Given the description of an element on the screen output the (x, y) to click on. 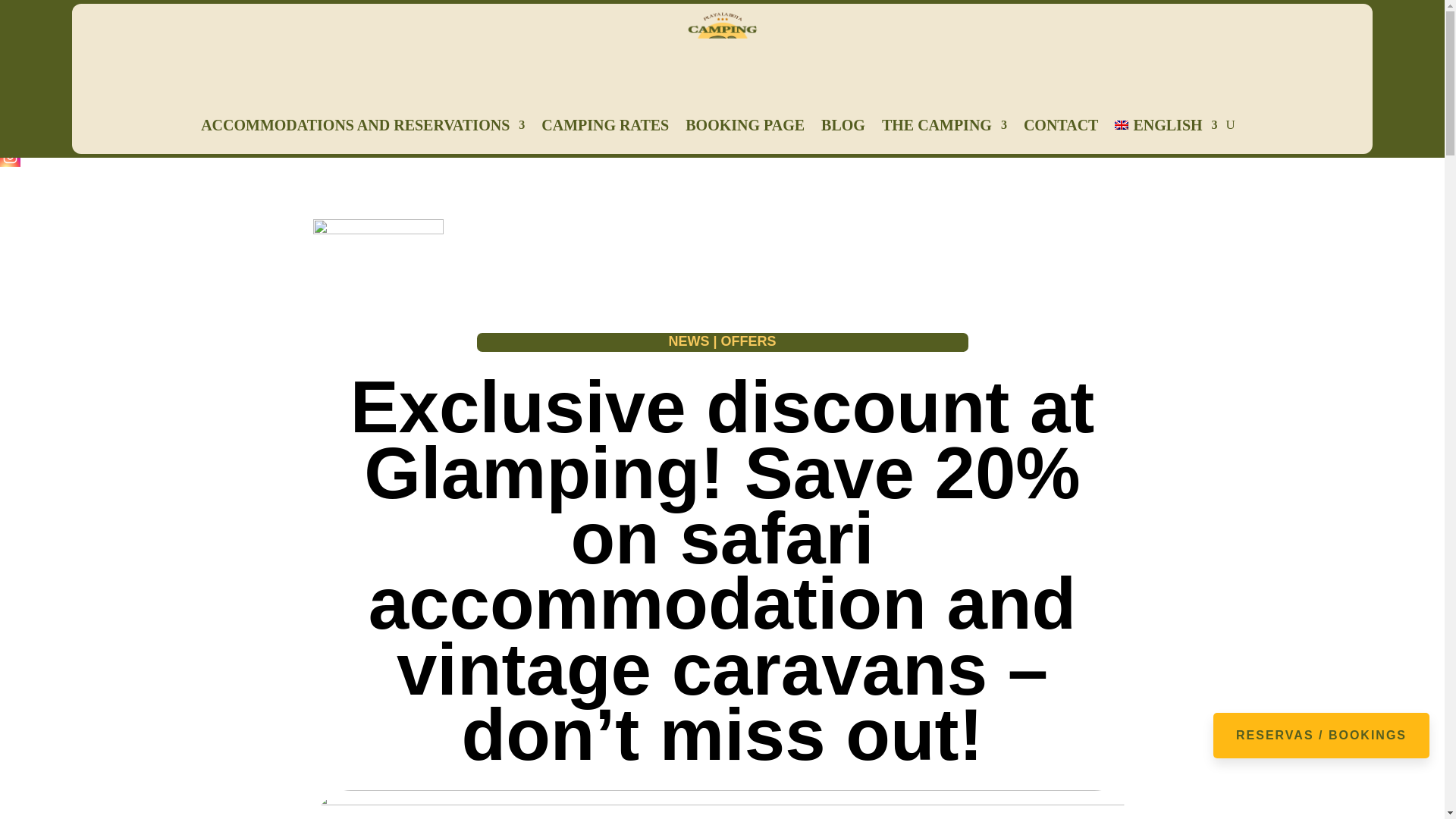
THE CAMPING (944, 124)
poke-restaurant-5 (377, 264)
Twitter (10, 114)
ENGLISH (1166, 124)
Whatsapp (10, 135)
Facebook (10, 94)
English (1166, 124)
Oferta20Glamping (722, 804)
BOOKING PAGE (745, 124)
CONTACT (1061, 124)
